Given the description of an element on the screen output the (x, y) to click on. 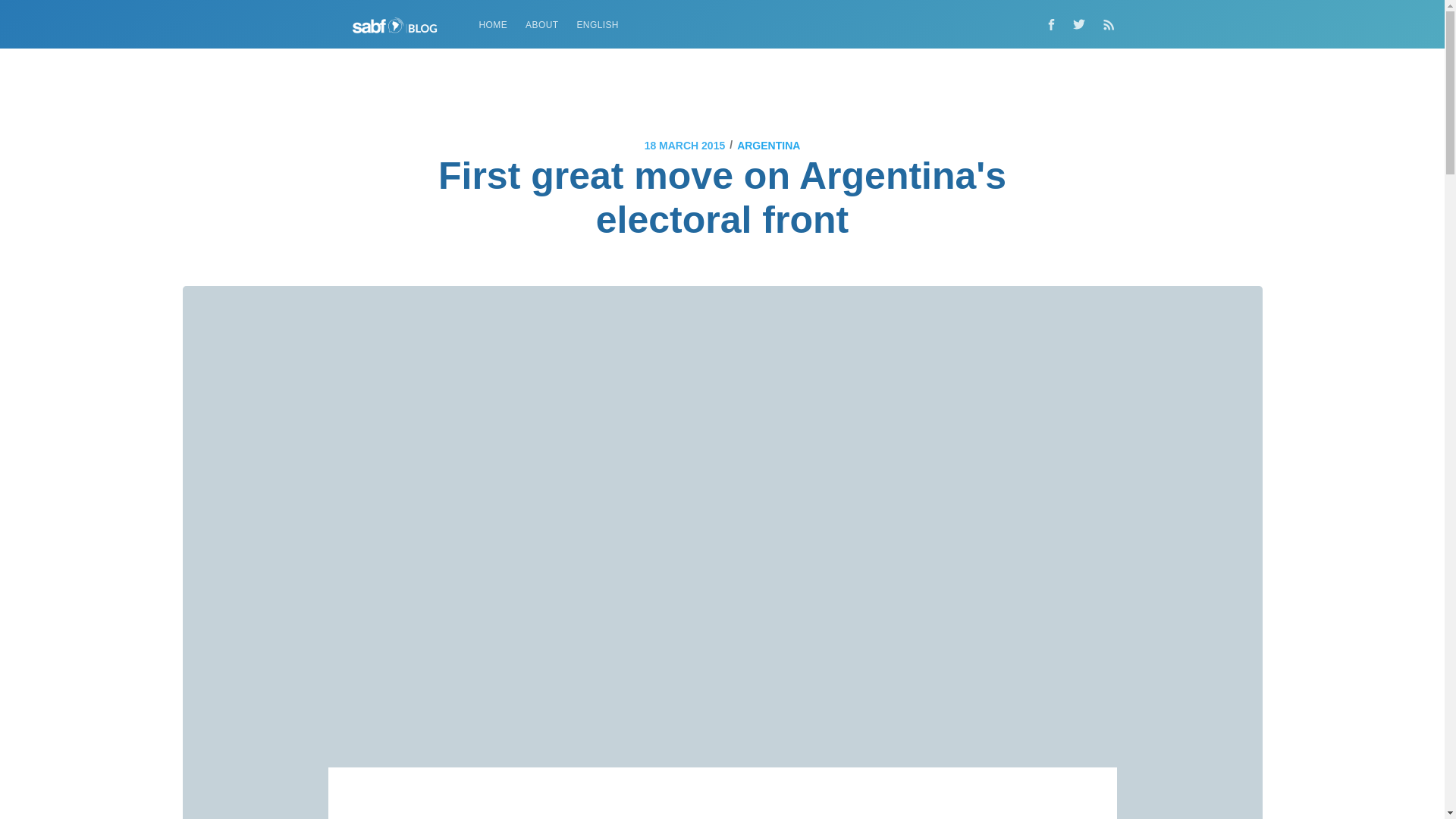
Twitter (1082, 23)
Facebook (1050, 23)
ABOUT (541, 25)
HOME (493, 25)
ENGLISH (597, 25)
ARGENTINA (767, 145)
